Given the description of an element on the screen output the (x, y) to click on. 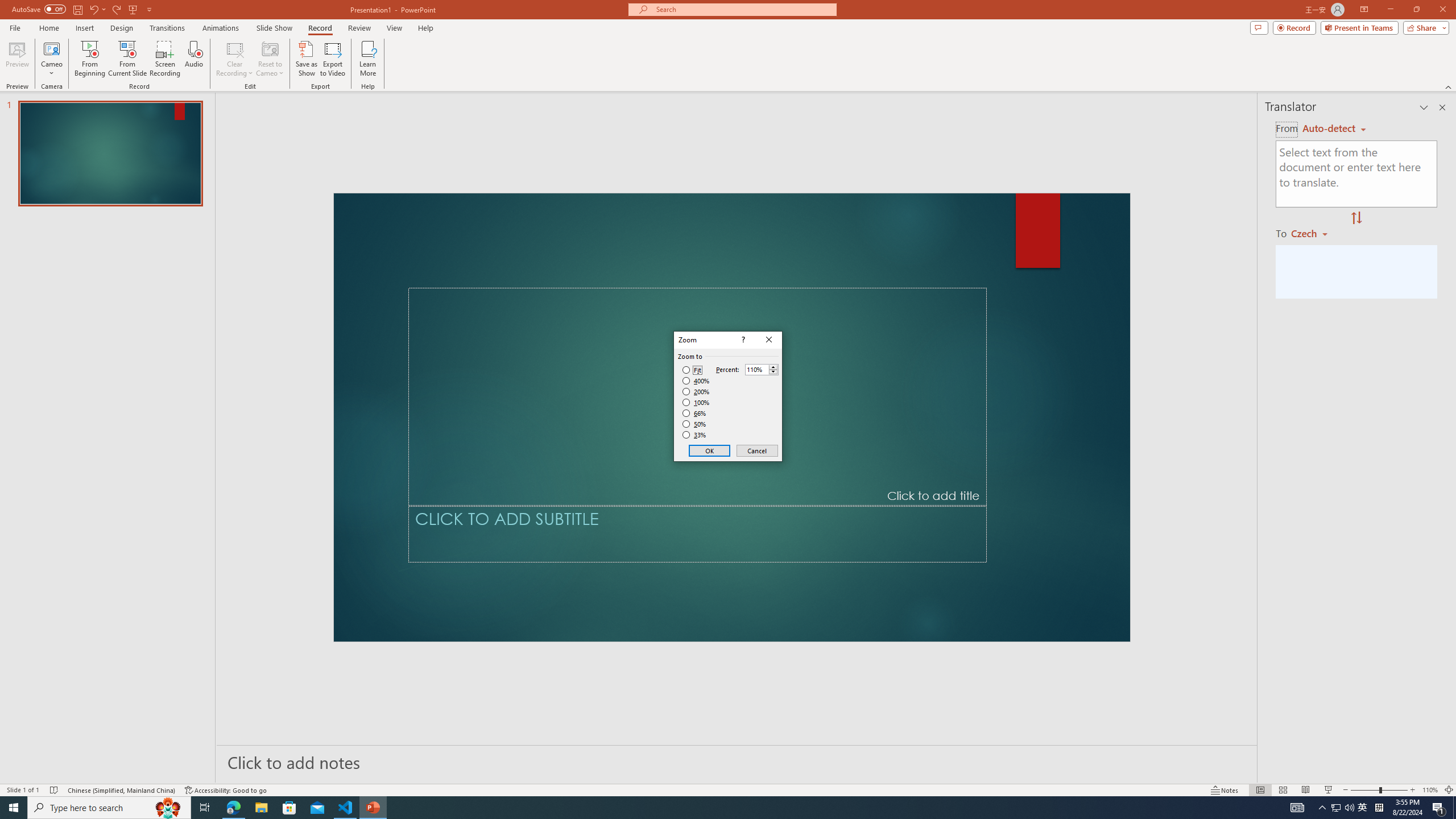
Cancel (756, 450)
400% (696, 380)
Auto-detect (1334, 128)
Accessibility Checker Accessibility: Good to go (226, 790)
50% (694, 424)
Zoom 110% (1430, 790)
